Given the description of an element on the screen output the (x, y) to click on. 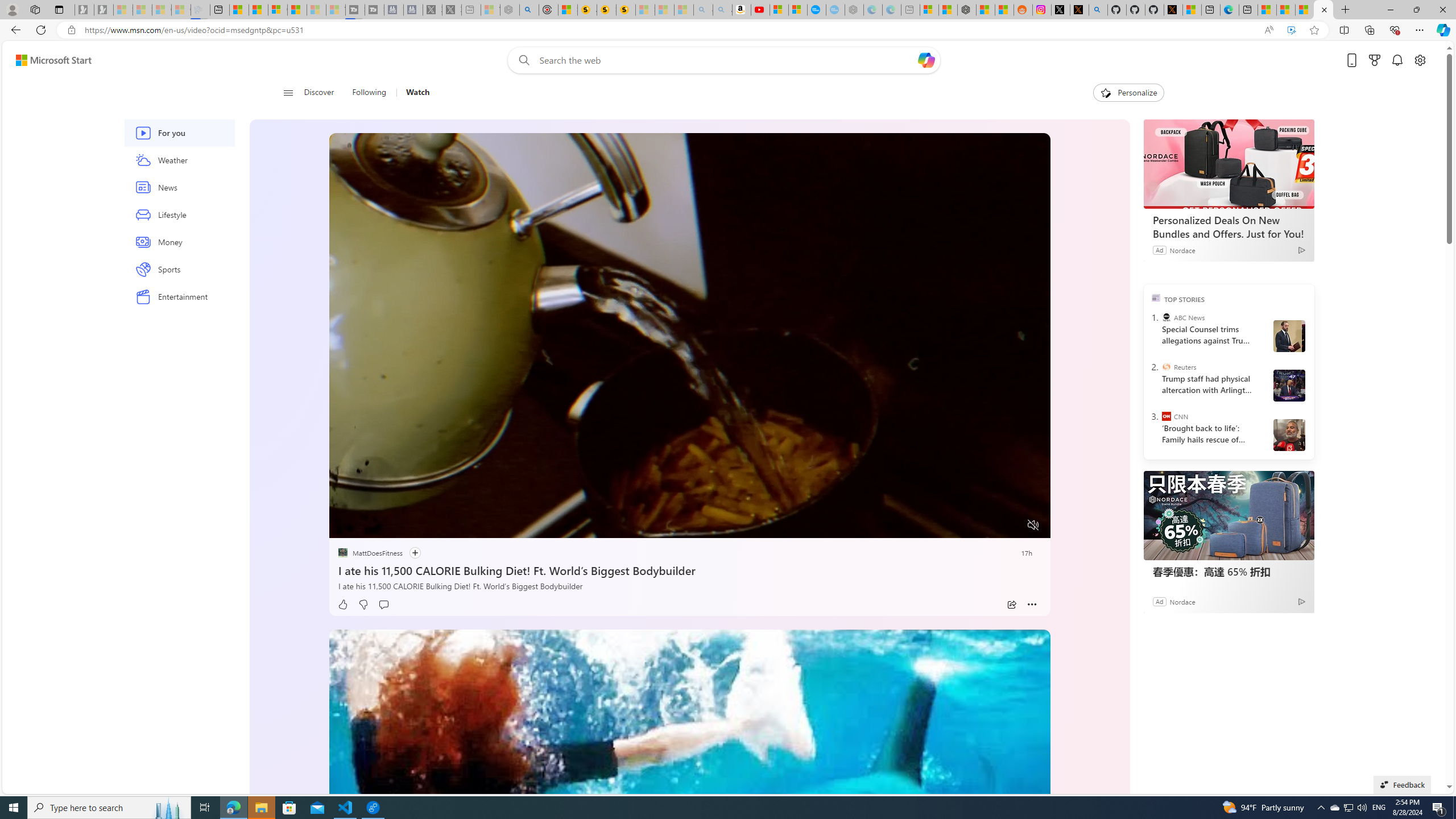
CNN (1165, 415)
Wildlife - MSN - Sleeping (490, 9)
Overview (277, 9)
Like (342, 604)
Michelle Starr, Senior Journalist at ScienceAlert (625, 9)
Nordace - Duffels (966, 9)
